Given the description of an element on the screen output the (x, y) to click on. 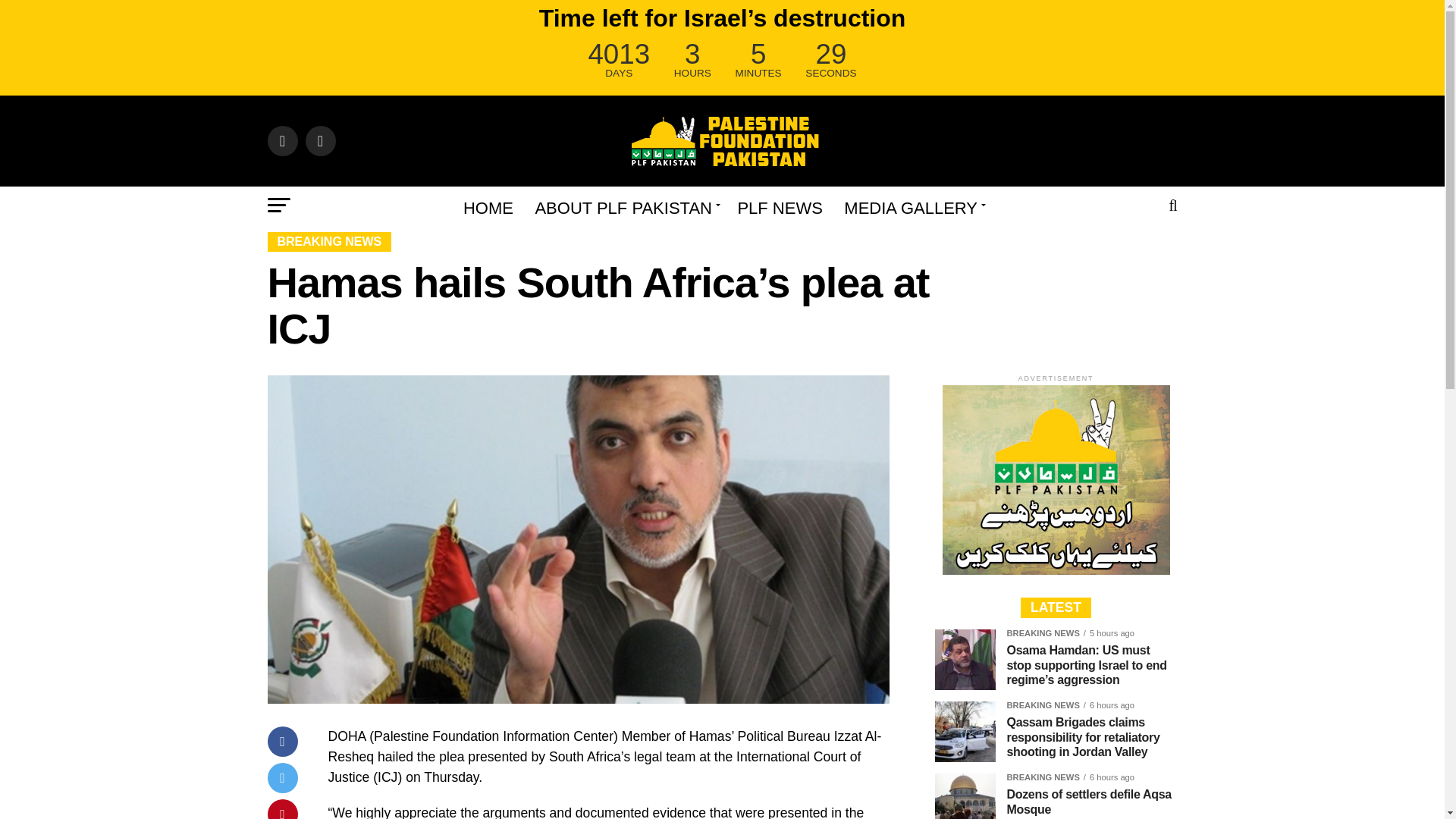
ABOUT PLF PAKISTAN (625, 208)
HOME (488, 208)
MEDIA GALLERY (912, 208)
PLF NEWS (779, 208)
